Given the description of an element on the screen output the (x, y) to click on. 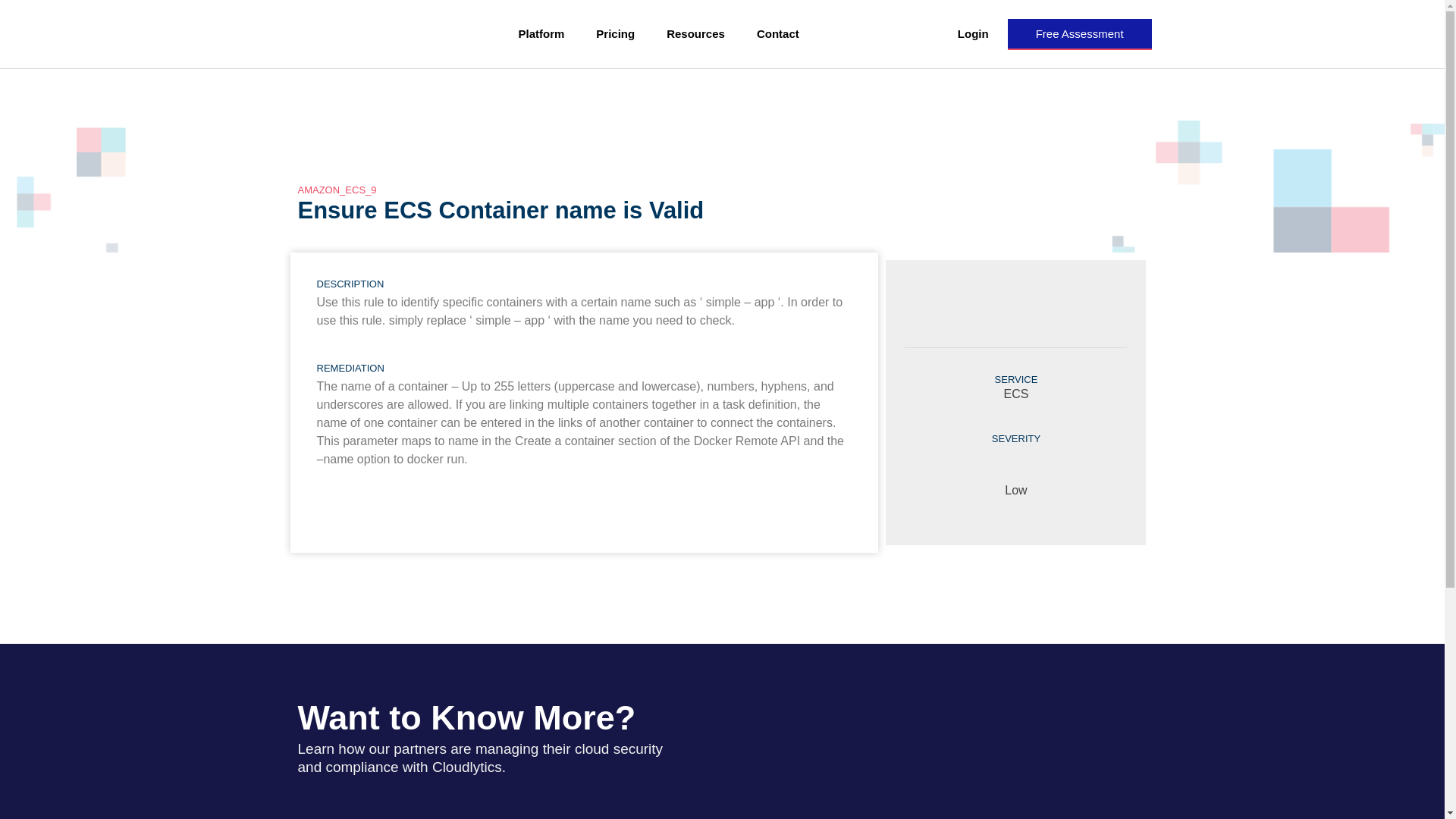
Platform (540, 33)
Free Assessment (1079, 33)
Login (973, 33)
Contact (778, 33)
Resources (695, 33)
Form 0 (917, 738)
Pricing (614, 33)
